Given the description of an element on the screen output the (x, y) to click on. 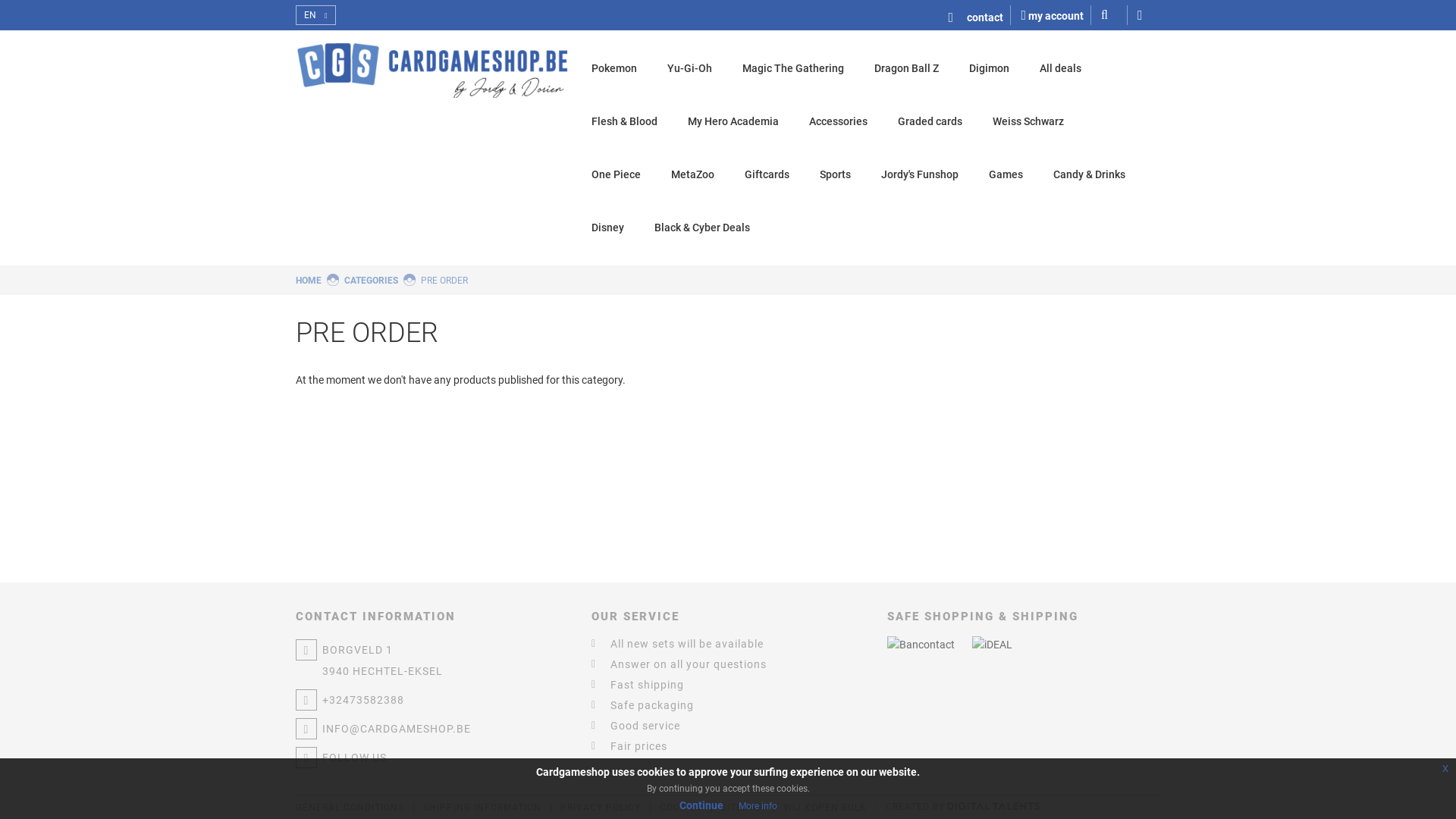
Digimon Element type: text (989, 68)
Candy & Drinks Element type: text (1089, 174)
SITEMAP Element type: text (742, 807)
Continue Element type: text (701, 805)
PRIVACY POLICY Element type: text (600, 807)
All deals Element type: text (1060, 68)
More info Element type: text (757, 805)
MetaZoo Element type: text (692, 174)
Dragon Ball Z Element type: text (906, 68)
Jordy's Funshop Element type: text (919, 174)
BORGVELD 1
3940 HECHTEL-EKSEL Element type: text (431, 660)
search Element type: text (1114, 15)
Giftcards Element type: text (766, 174)
INFO@CARDGAMESHOP.BE Element type: text (431, 728)
SHIPPING INFORMATION Element type: text (482, 807)
Flesh & Blood Element type: text (624, 121)
Disney Element type: text (607, 227)
GENERAL CONDITIONS Element type: text (349, 807)
Magic The Gathering Element type: text (793, 68)
HOME Element type: text (308, 280)
my account Element type: text (1051, 15)
Yu-Gi-Oh Element type: text (689, 68)
EN Element type: text (315, 15)
Accessories Element type: text (838, 121)
Black & Cyber Deals Element type: text (701, 227)
FOLLOW US Element type: text (431, 757)
Sports Element type: text (834, 174)
WIJ KOPEN BULK Element type: text (824, 807)
Games Element type: text (1005, 174)
Graded cards Element type: text (929, 121)
COOKIES Element type: text (680, 807)
My Hero Academia Element type: text (732, 121)
CREATED BY Element type: text (962, 806)
Pokemon Element type: text (614, 68)
+32473582388 Element type: text (431, 699)
Weiss Schwarz Element type: text (1027, 121)
CATEGORIES Element type: text (371, 280)
contact Element type: text (978, 15)
One Piece Element type: text (615, 174)
